Given the description of an element on the screen output the (x, y) to click on. 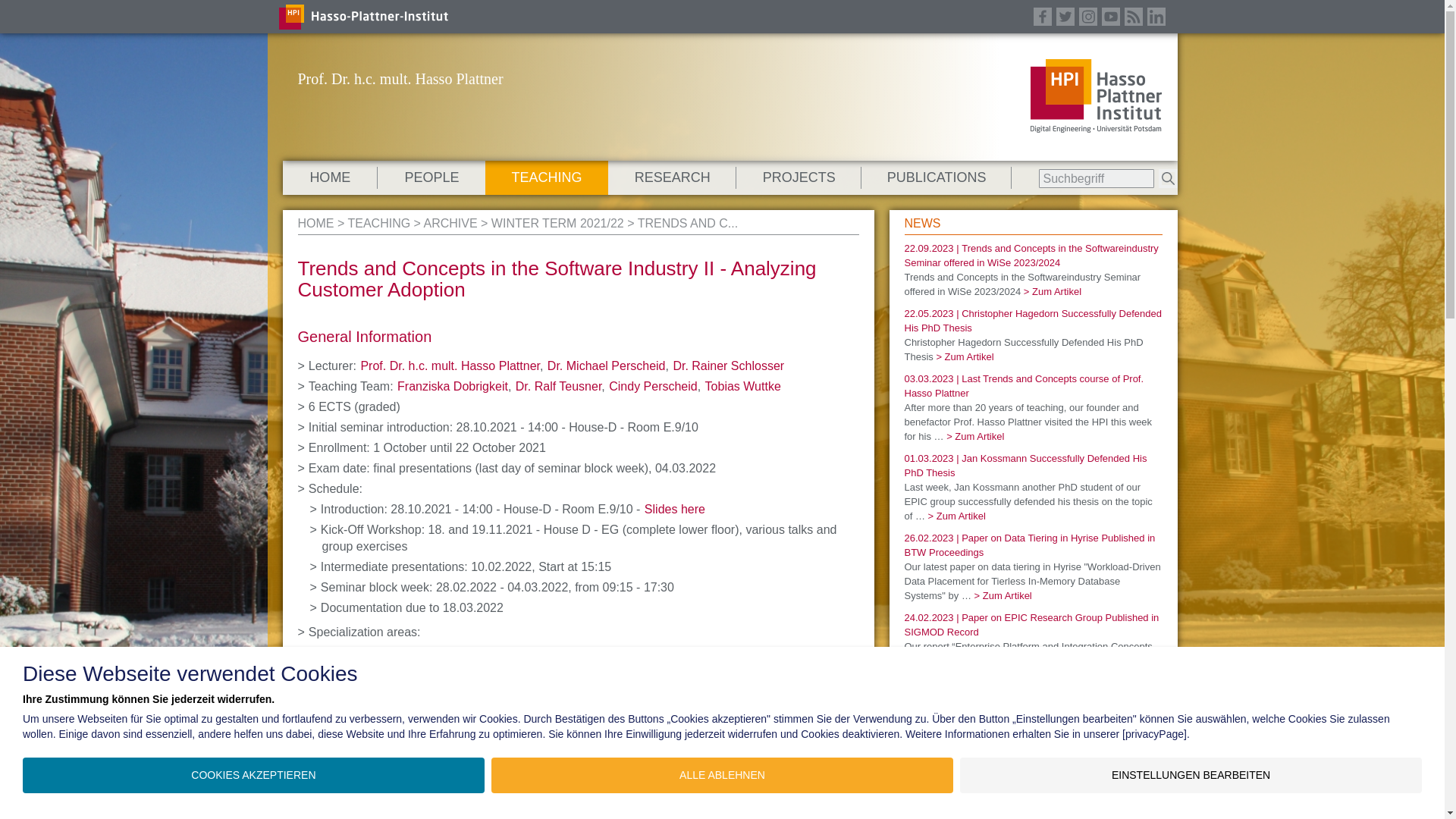
Archive (450, 223)
Teaching (378, 223)
PUBLICATIONS (936, 177)
TEACHING (546, 177)
SUCHEN (1167, 178)
PEOPLE (431, 177)
RESEARCH (672, 177)
Plattner (315, 223)
PROJECTS (798, 177)
HOME (329, 177)
